Given the description of an element on the screen output the (x, y) to click on. 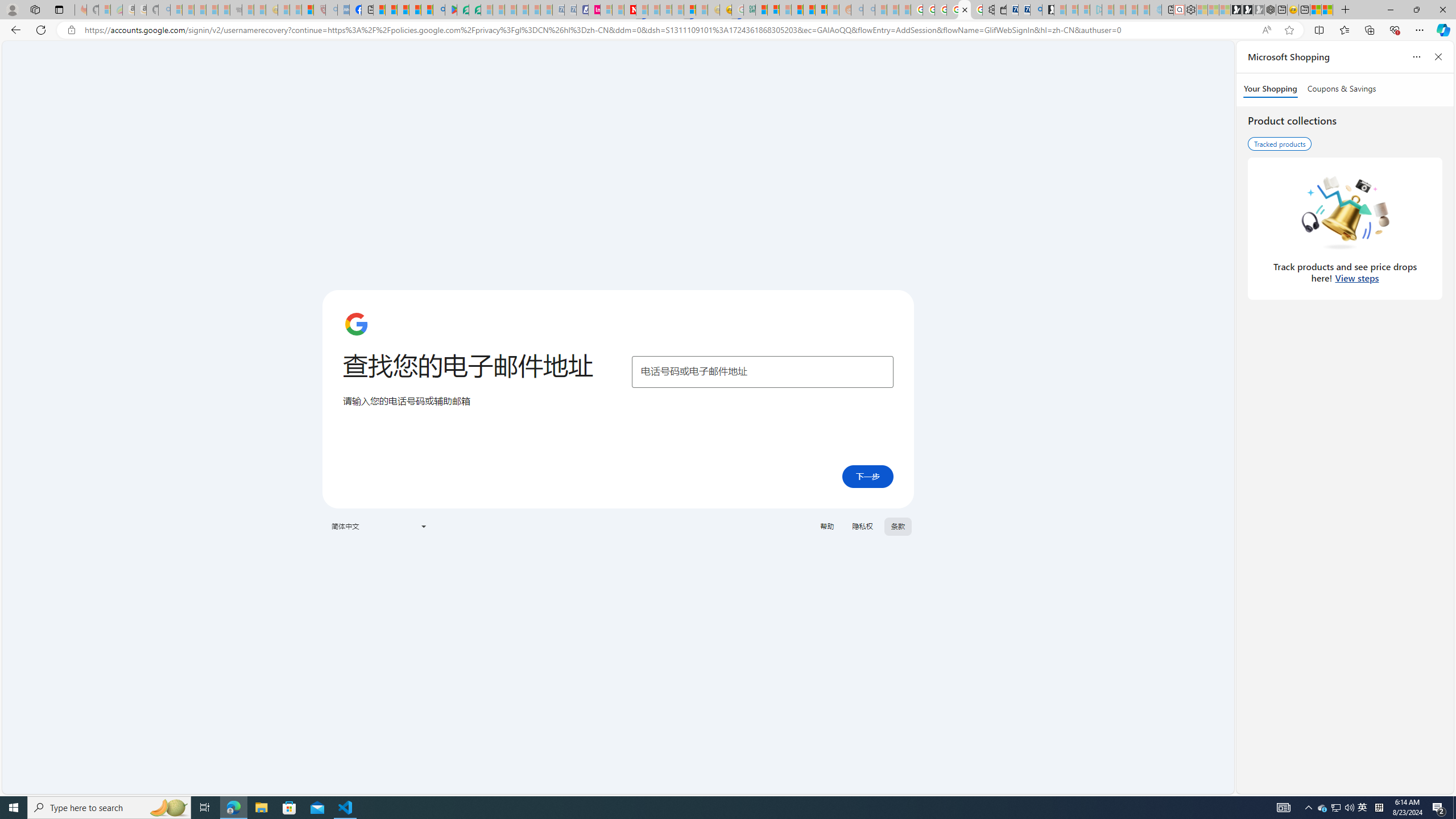
Trusted Community Engagement and Contributions | Guidelines (641, 9)
Latest Politics News & Archive | Newsweek.com (629, 9)
14 Common Myths Debunked By Scientific Facts - Sleeping (654, 9)
Recipes - MSN - Sleeping (283, 9)
